Given the description of an element on the screen output the (x, y) to click on. 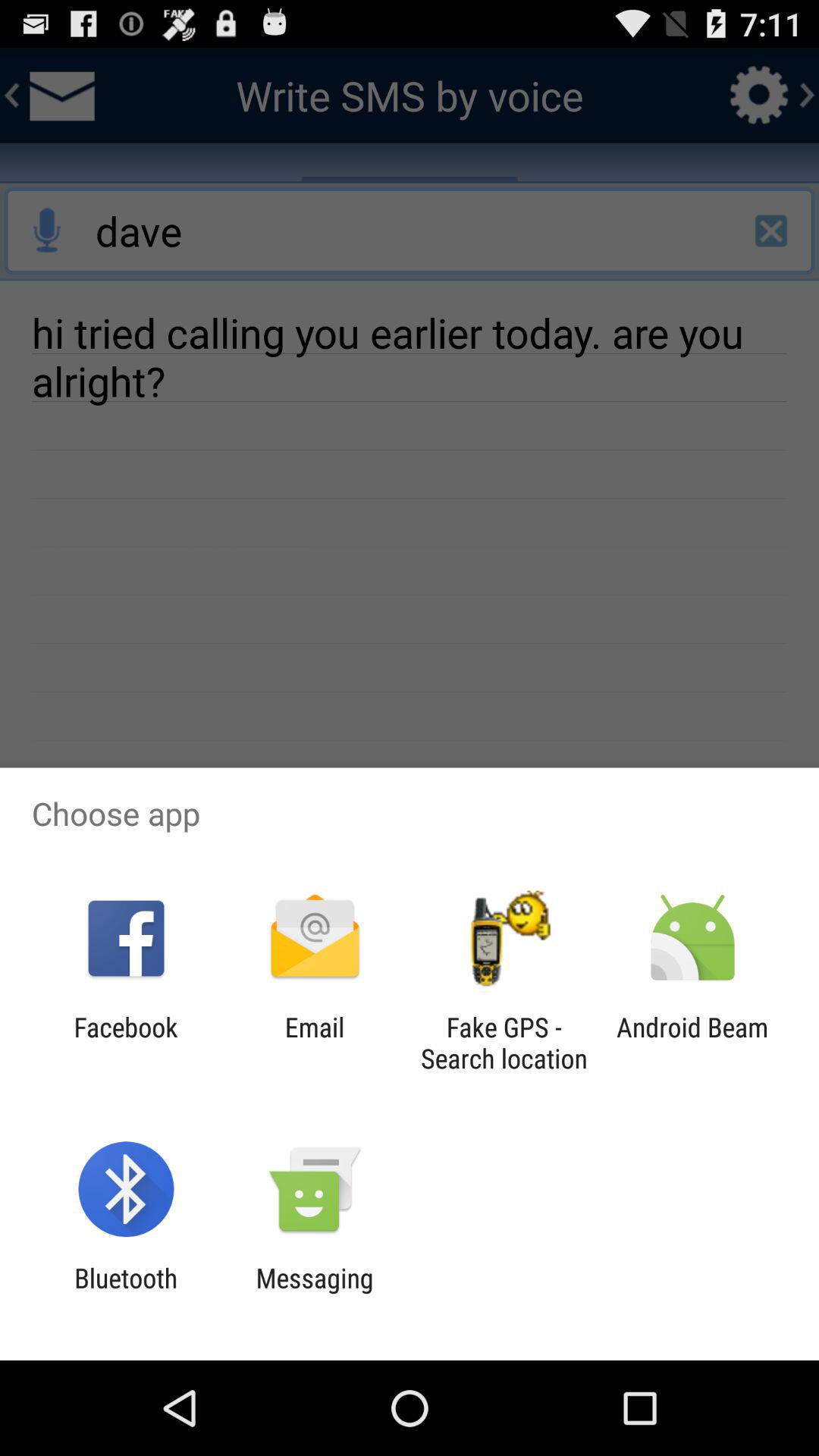
select item at the bottom right corner (692, 1042)
